Given the description of an element on the screen output the (x, y) to click on. 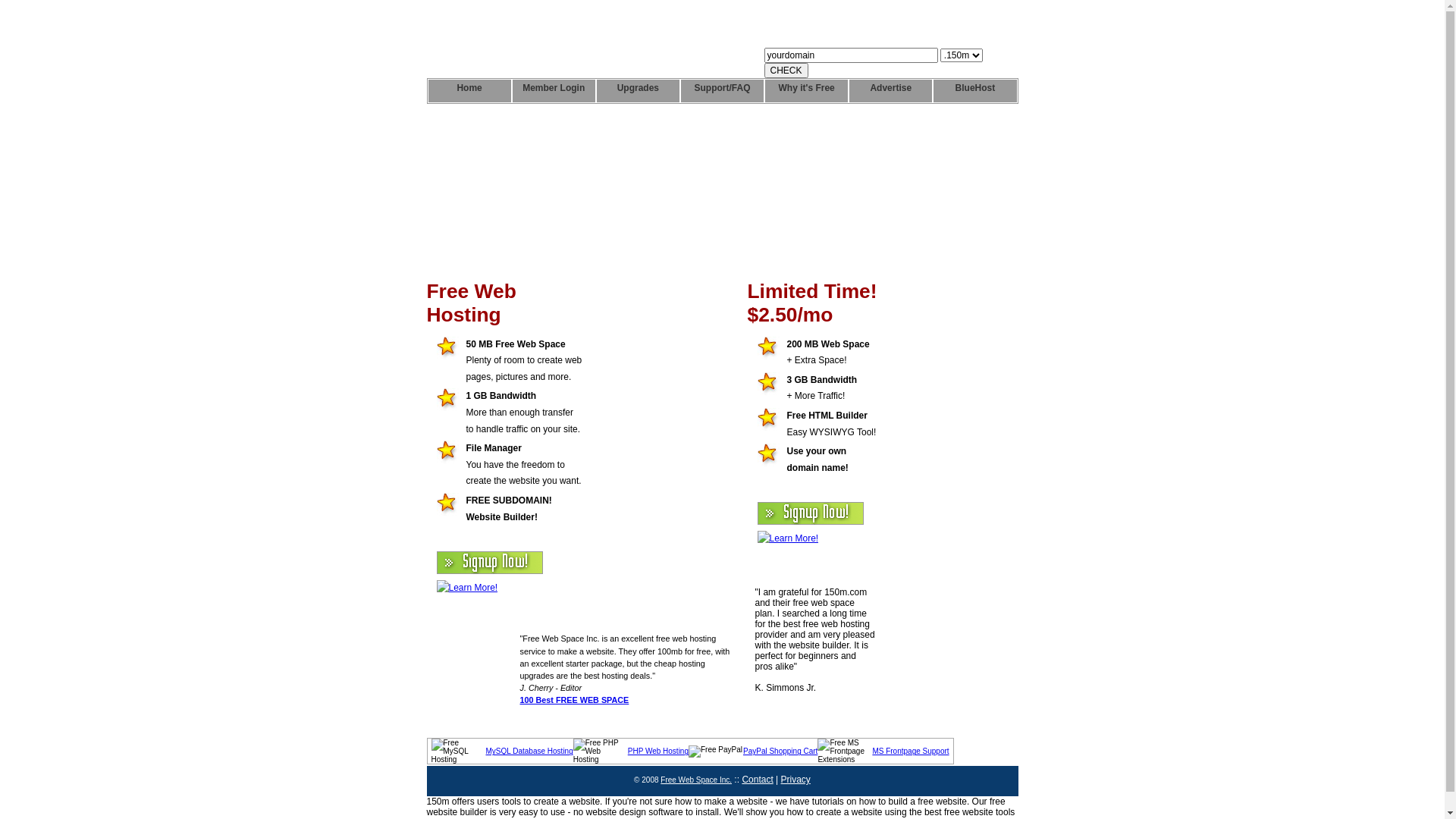
PHP Web Hosting Element type: text (657, 750)
MySQL Database Hosting Element type: text (528, 750)
Privacy Element type: text (795, 779)
Support/FAQ Element type: text (721, 90)
Home Element type: text (468, 90)
PayPal Shopping Cart Element type: text (780, 750)
Why it's Free Element type: text (806, 90)
Contact Element type: text (756, 779)
Free Web Space Inc. Element type: text (695, 779)
Member Login Element type: text (553, 90)
100 Best FREE WEB SPACE Element type: text (574, 699)
Advertise Element type: text (890, 90)
Upgrades Element type: text (637, 90)
CHECK Element type: text (786, 70)
MS Frontpage Support Element type: text (910, 750)
BlueHost Element type: text (974, 90)
